Given the description of an element on the screen output the (x, y) to click on. 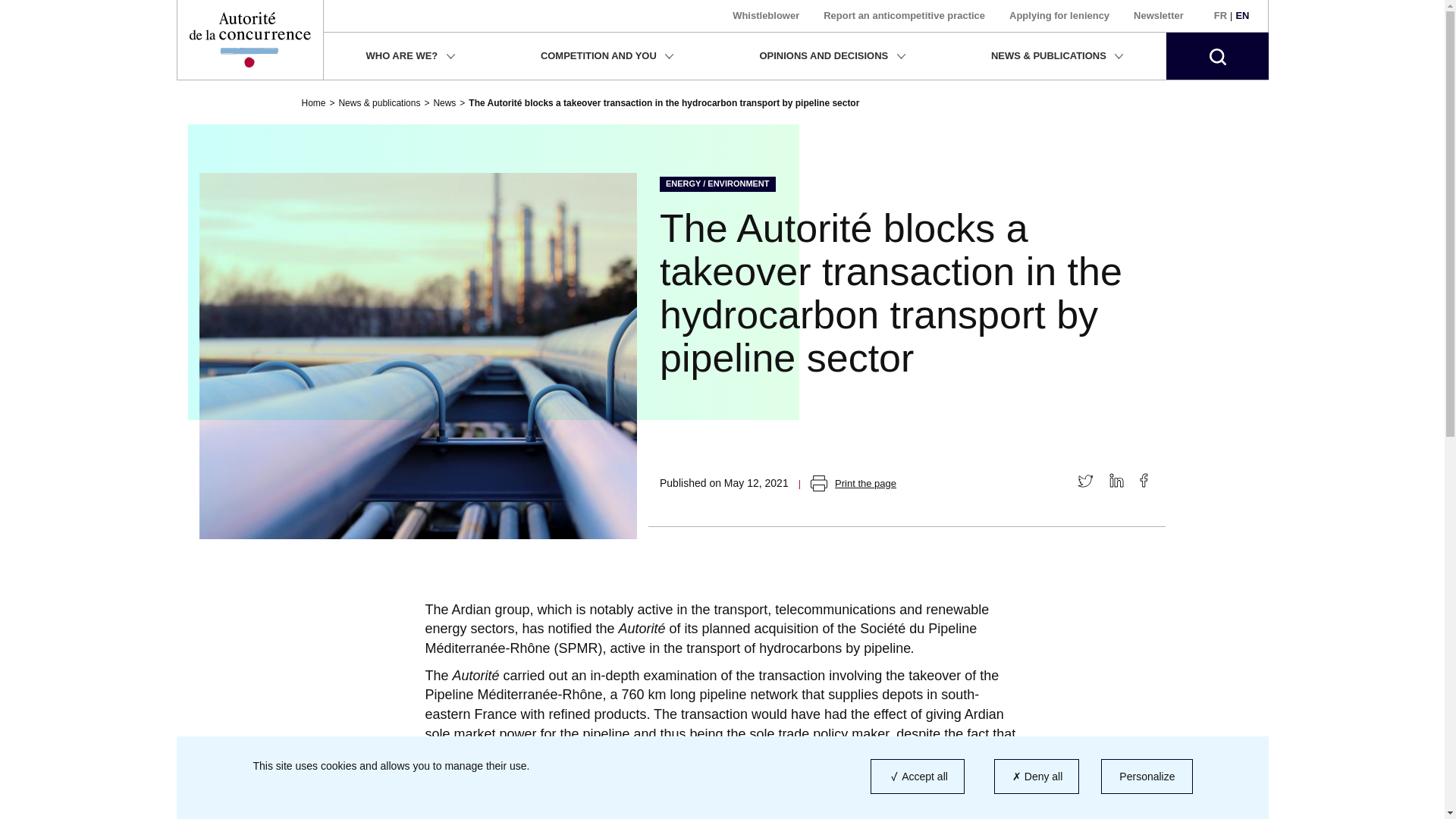
Whistleblower (765, 15)
COMPETITION AND YOU (607, 55)
WHO ARE WE? (410, 55)
Report an anticompetitive practice (904, 15)
OPINIONS AND DECISIONS (831, 55)
